Given the description of an element on the screen output the (x, y) to click on. 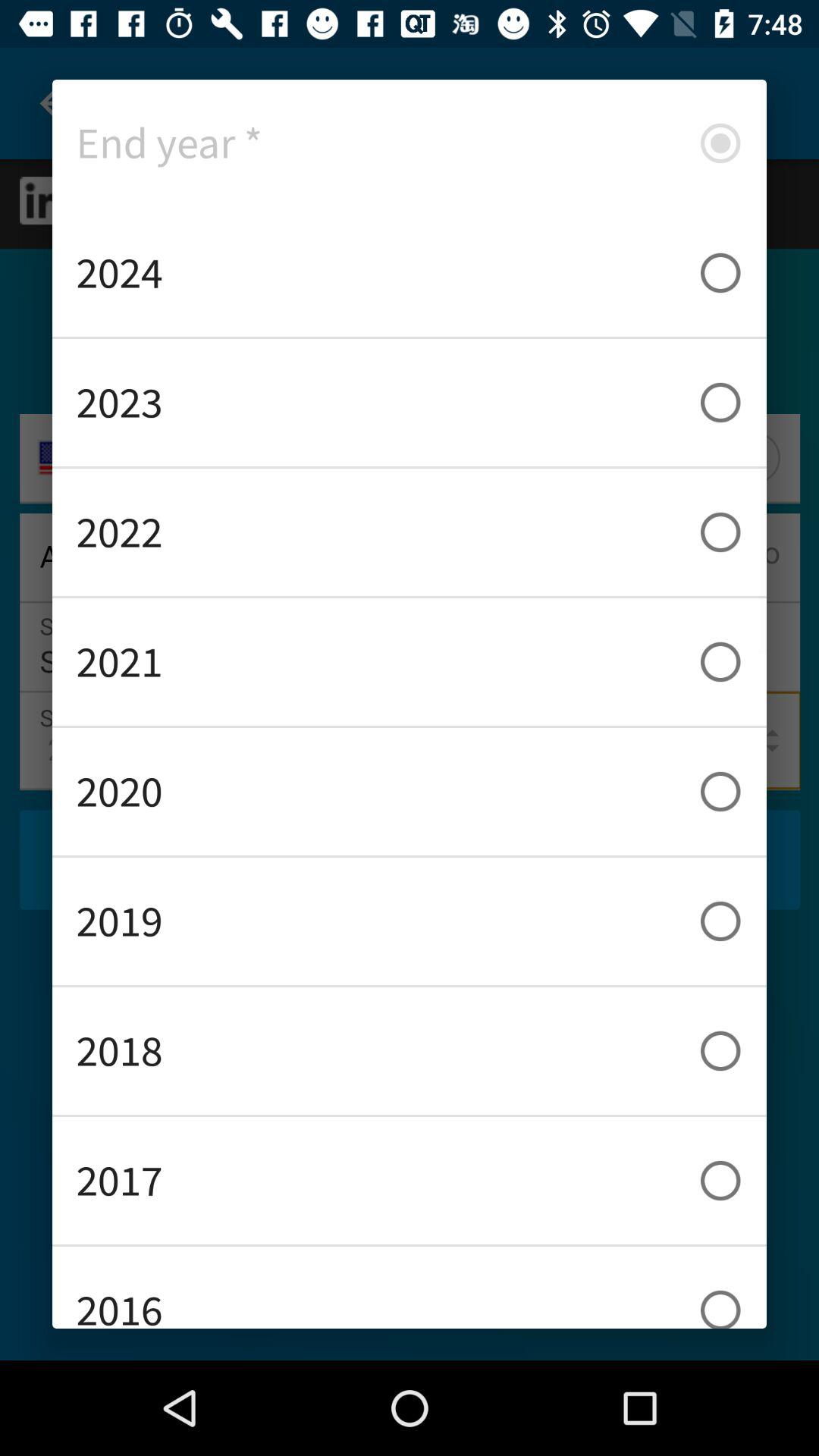
turn on the 2016 item (409, 1287)
